Given the description of an element on the screen output the (x, y) to click on. 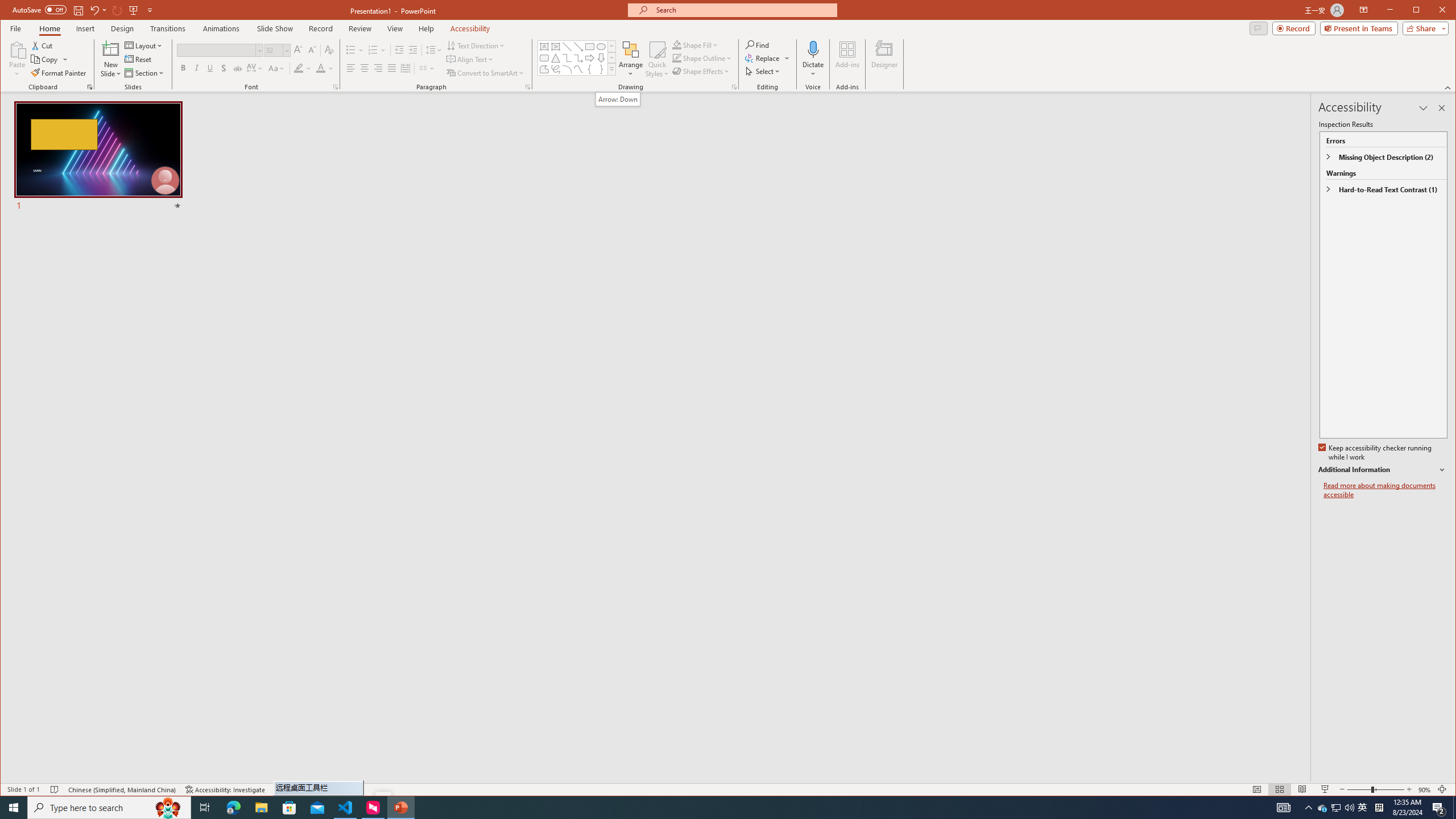
Right Brace (601, 69)
Paragraph... (527, 86)
Shadow (224, 68)
Shape Effects (702, 70)
Read more about making documents accessible (1385, 489)
